Given the description of an element on the screen output the (x, y) to click on. 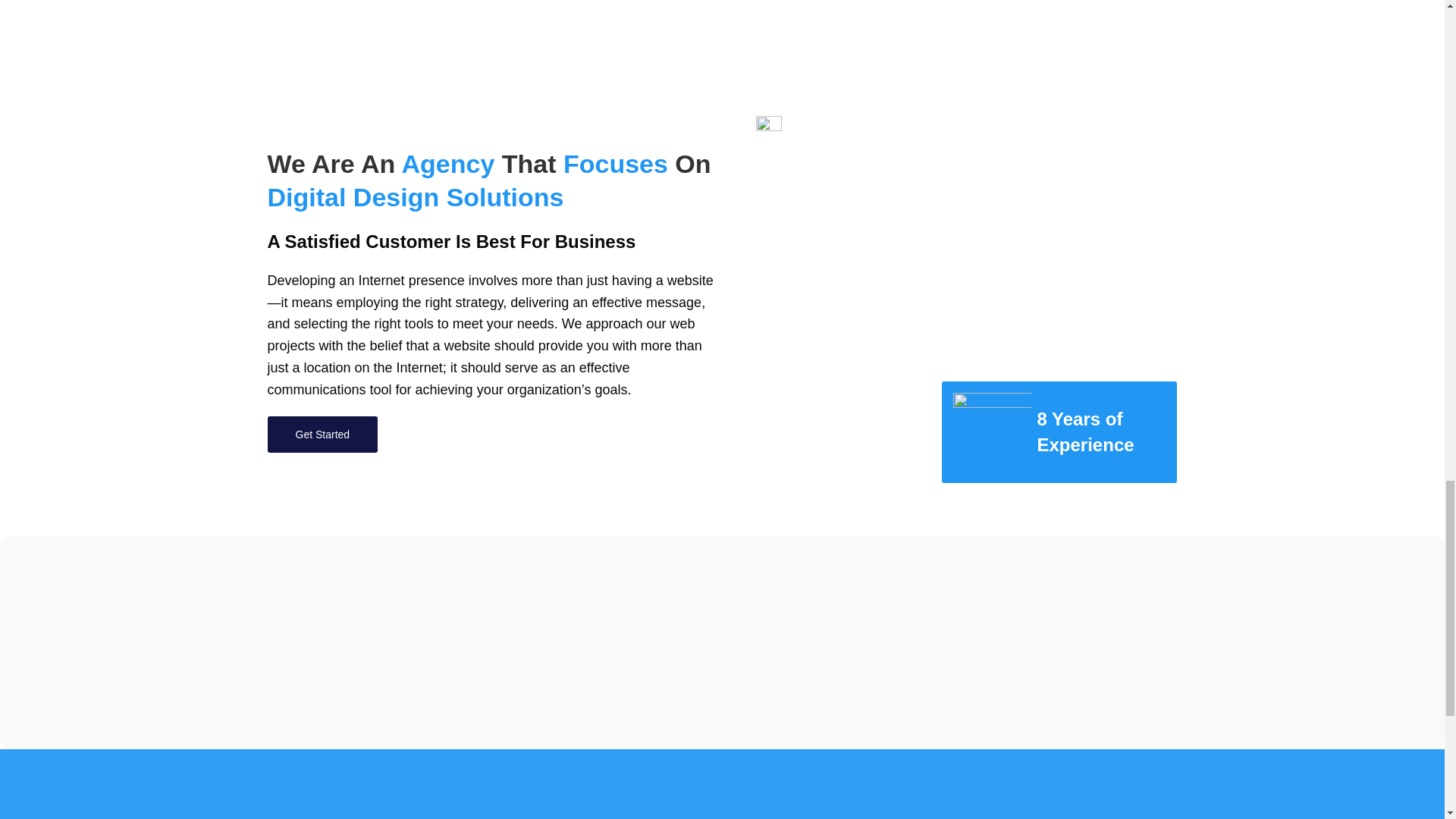
Get Started (321, 434)
